Given the description of an element on the screen output the (x, y) to click on. 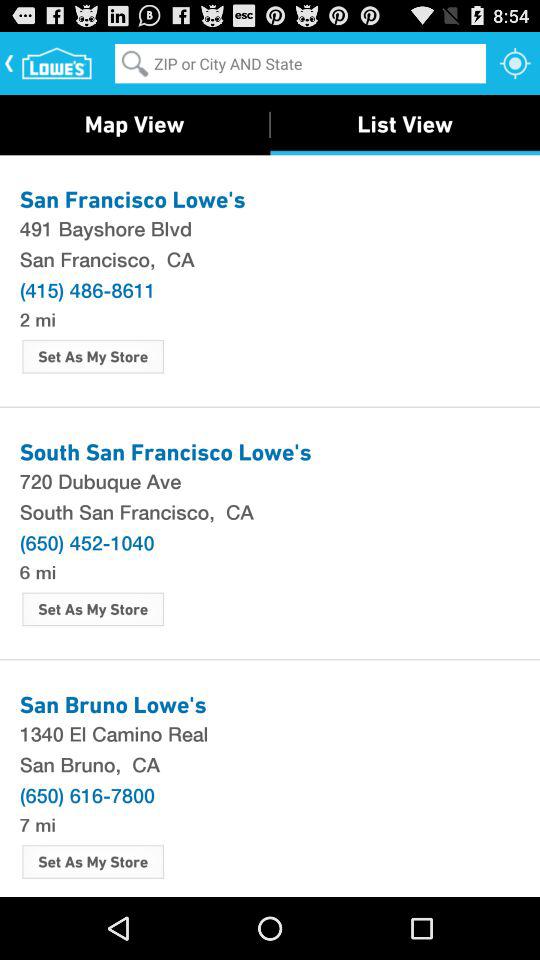
turn on the icon above the list view icon (515, 62)
